Given the description of an element on the screen output the (x, y) to click on. 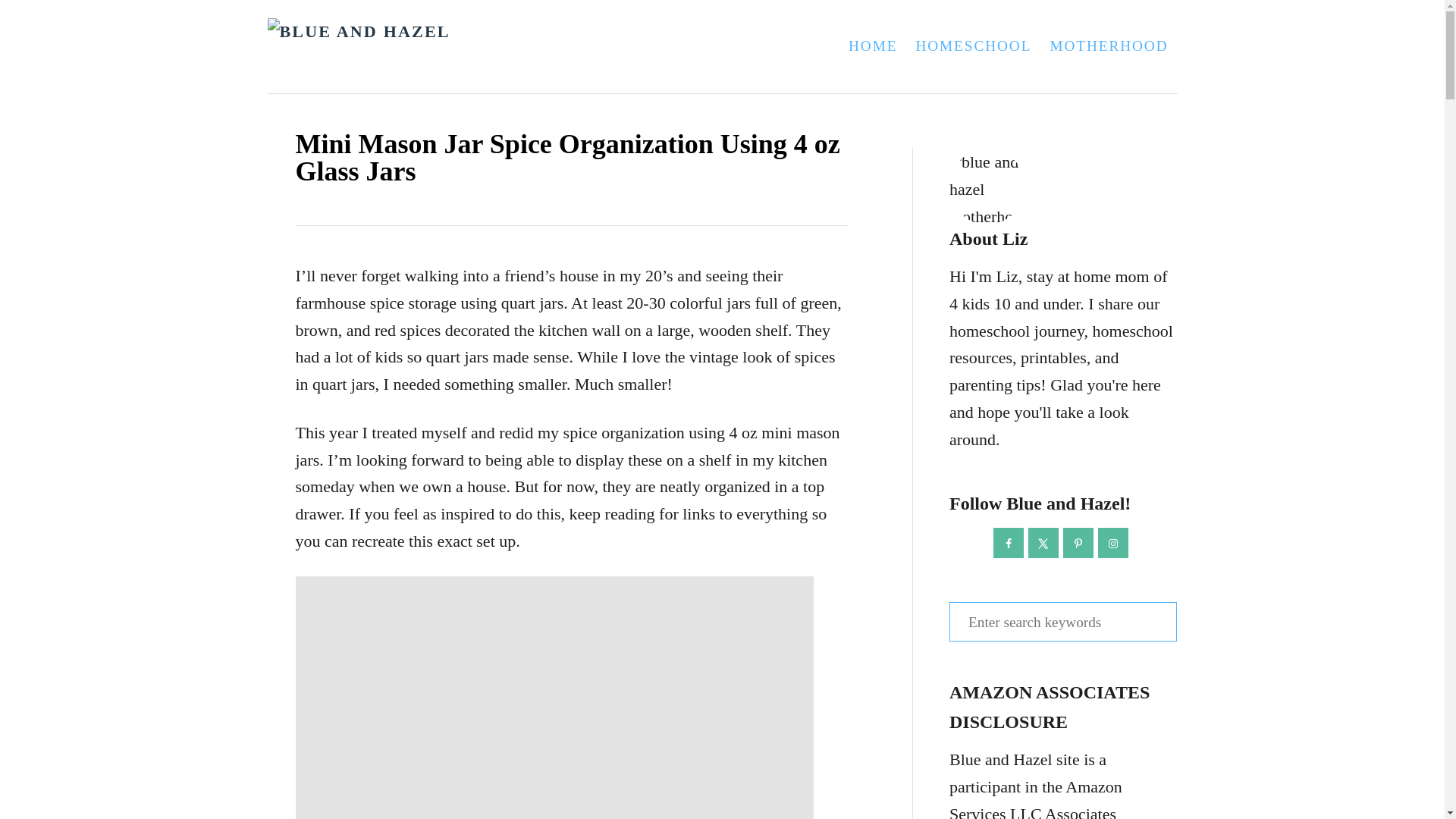
HOME (872, 45)
Follow on Instagram (1112, 542)
HOMESCHOOL (973, 45)
Blue and Hazel (454, 46)
Follow on Facebook (1007, 542)
MOTHERHOOD (1108, 45)
Follow on Pinterest (1077, 542)
Search for: (1062, 621)
Follow on X (1042, 542)
